Given the description of an element on the screen output the (x, y) to click on. 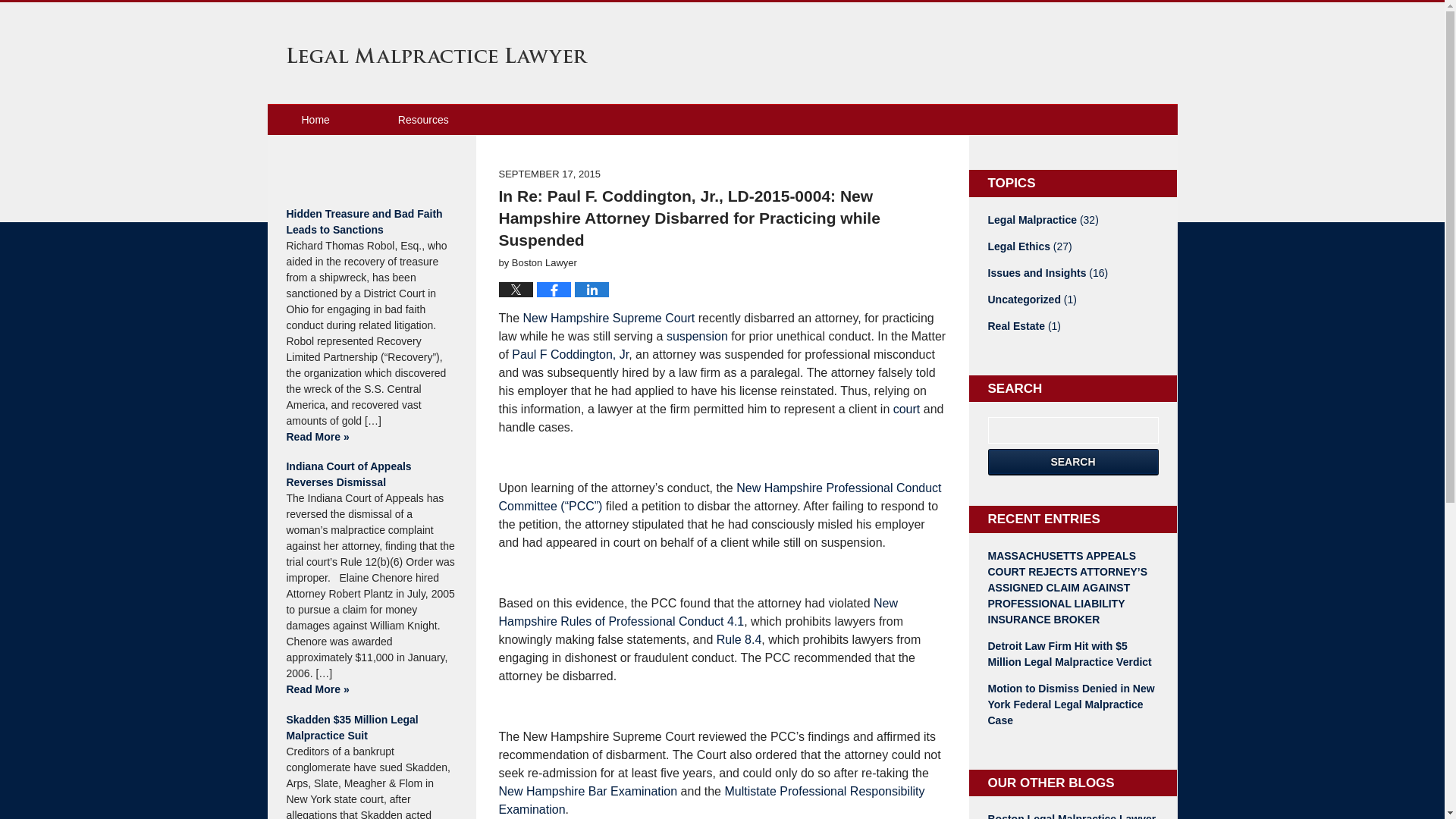
Multistate Professional Responsibility Examination (711, 799)
Rule 8.4 (738, 639)
New Hampshire Rules of Professional Conduct 4.1 (698, 612)
Resources (423, 119)
Paul F Coddington, Jr (570, 354)
New Hampshire Supreme Court (608, 318)
Home (314, 119)
Hidden Treasure and Bad Faith Leads to Sanctions (371, 222)
suspension (697, 336)
court (906, 408)
New Hampshire Bar Examination (588, 790)
Legal Malpractice Lawyer (437, 55)
Indiana Court of Appeals Reverses Dismissal (371, 474)
